Given the description of an element on the screen output the (x, y) to click on. 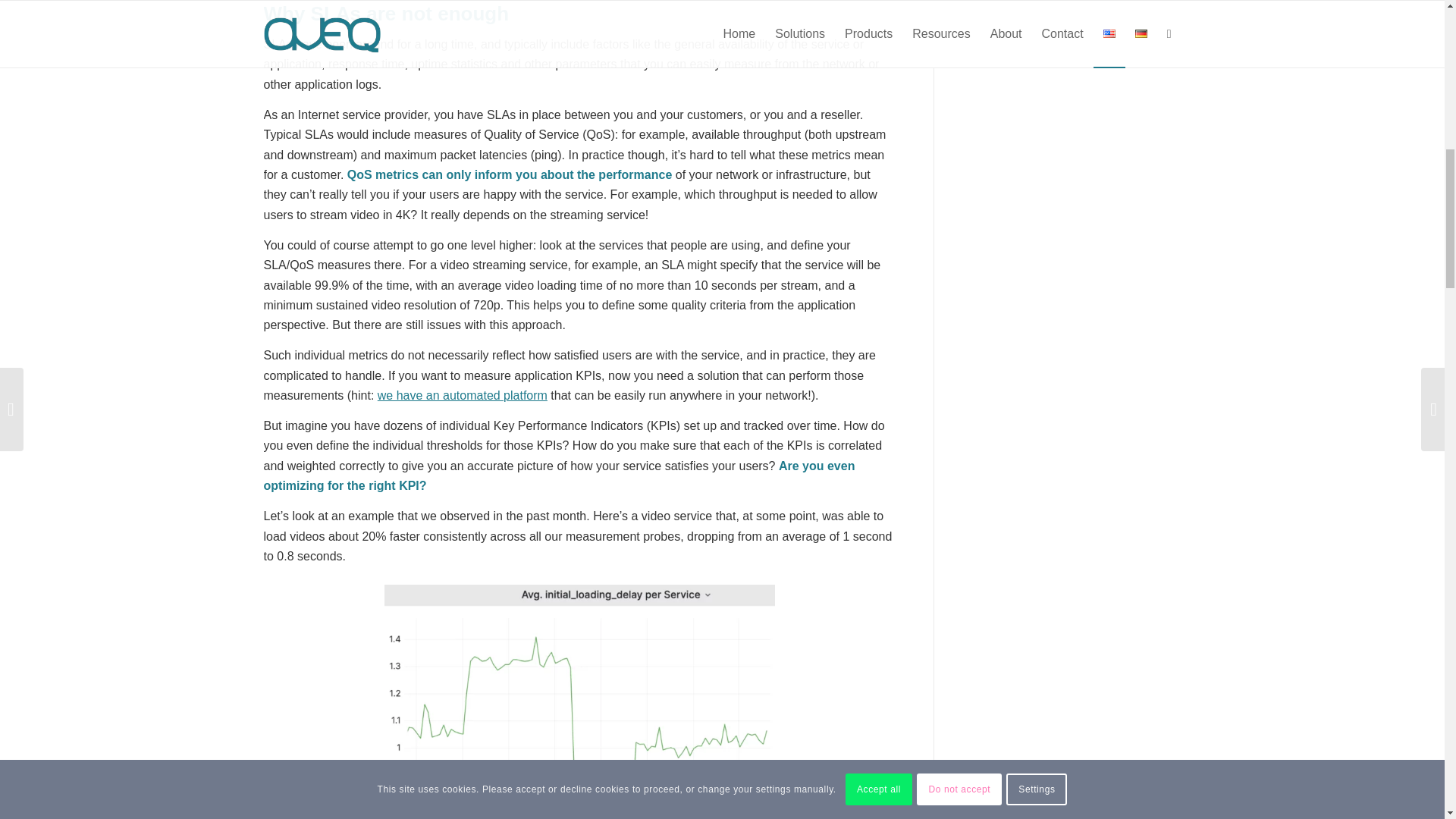
we have an automated platform (462, 395)
